Given the description of an element on the screen output the (x, y) to click on. 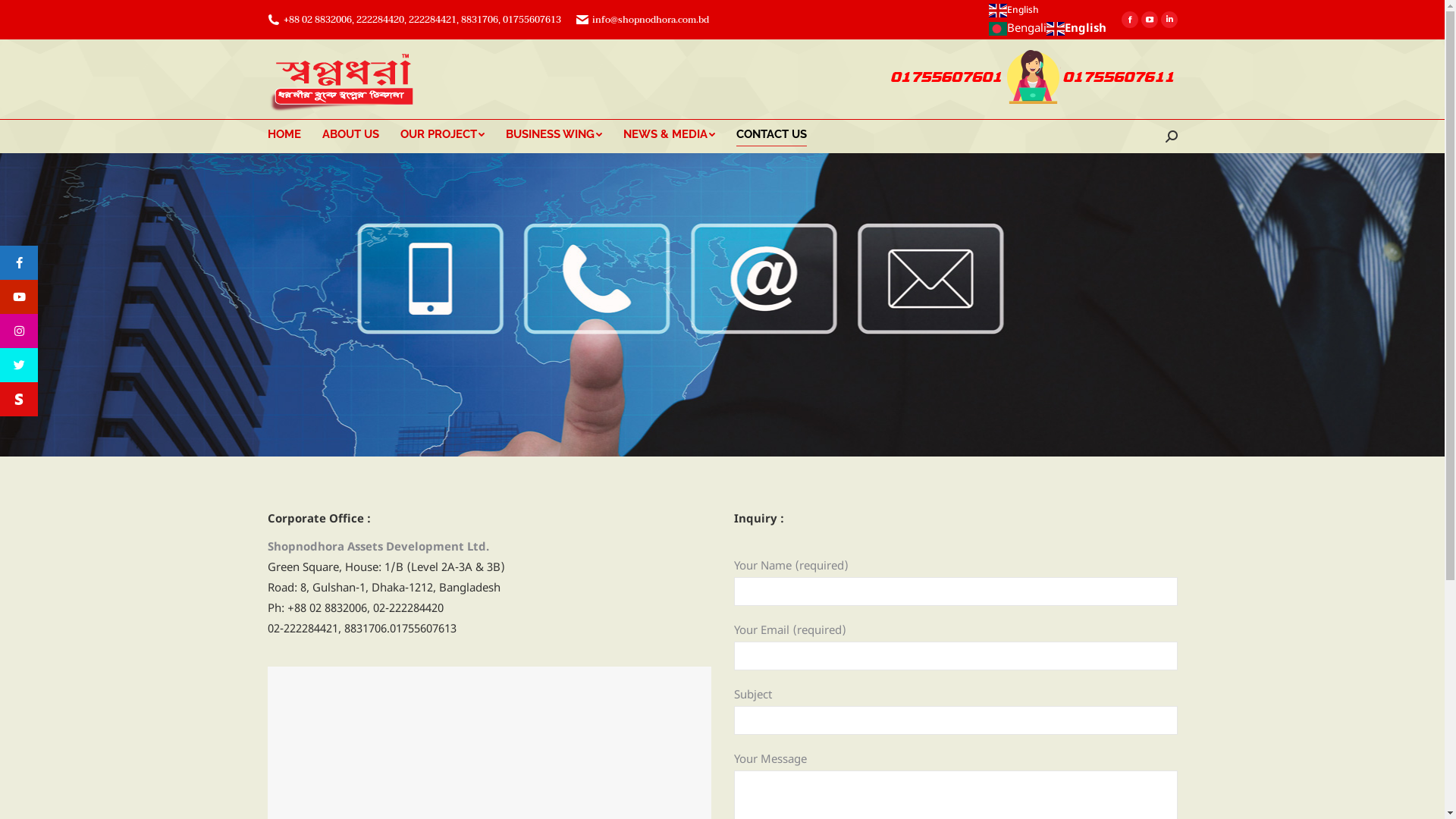
OUR PROJECT Element type: text (452, 134)
Facebook page opens in new window Element type: text (1128, 19)
Linkedin page opens in new window Element type: text (1168, 19)
English Element type: text (1076, 28)
ABOUT US Element type: text (360, 134)
NEWS & MEDIA Element type: text (679, 134)
Go! Element type: text (32, 15)
BUSINESS WING Element type: text (563, 134)
Bengali Element type: text (1017, 28)
English Element type: text (1047, 10)
HOME Element type: text (293, 134)
CONTACT US Element type: text (781, 134)
YouTube page opens in new window Element type: text (1148, 19)
